Given the description of an element on the screen output the (x, y) to click on. 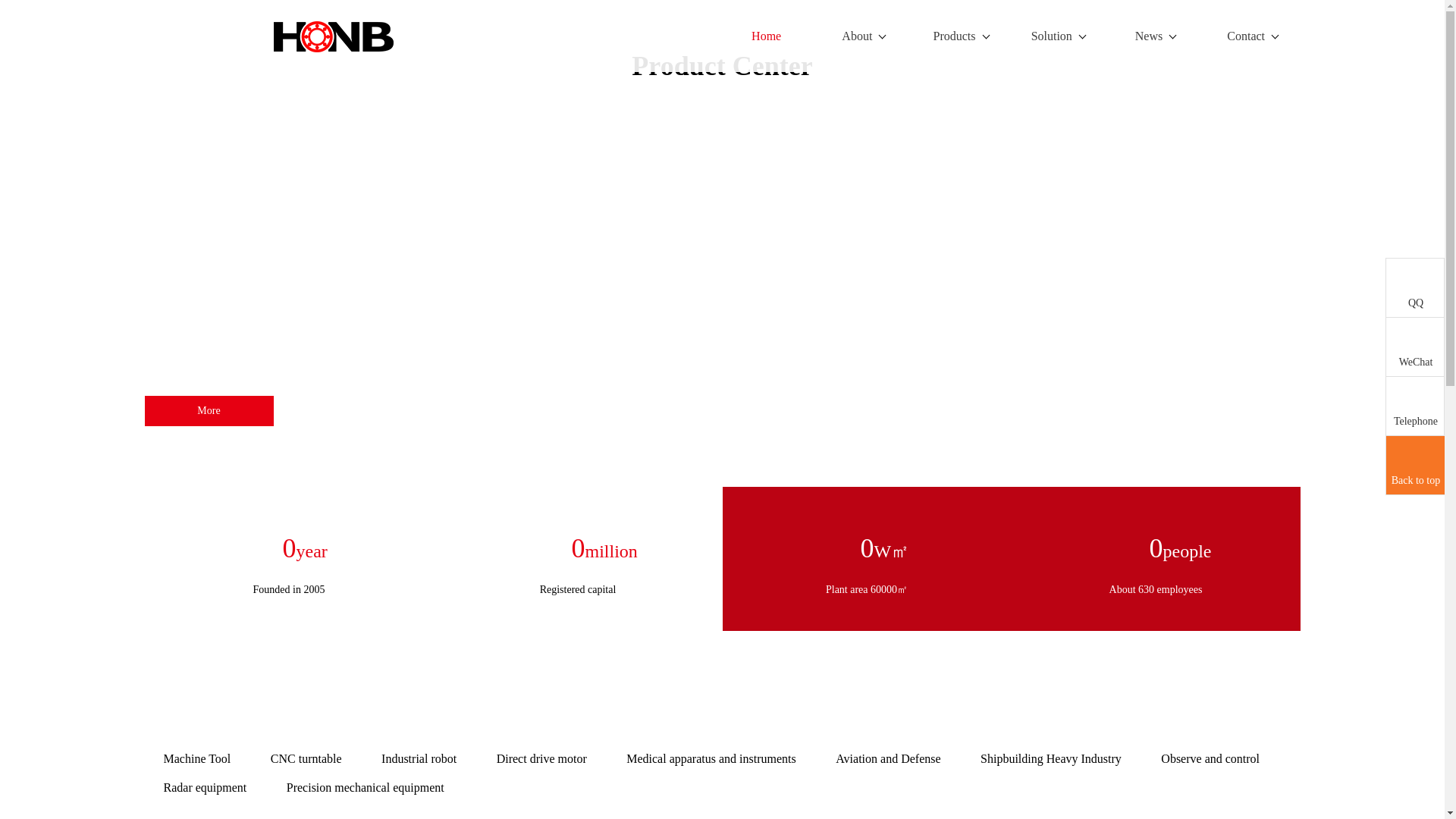
Home (766, 36)
About (863, 36)
Products (961, 36)
